Given the description of an element on the screen output the (x, y) to click on. 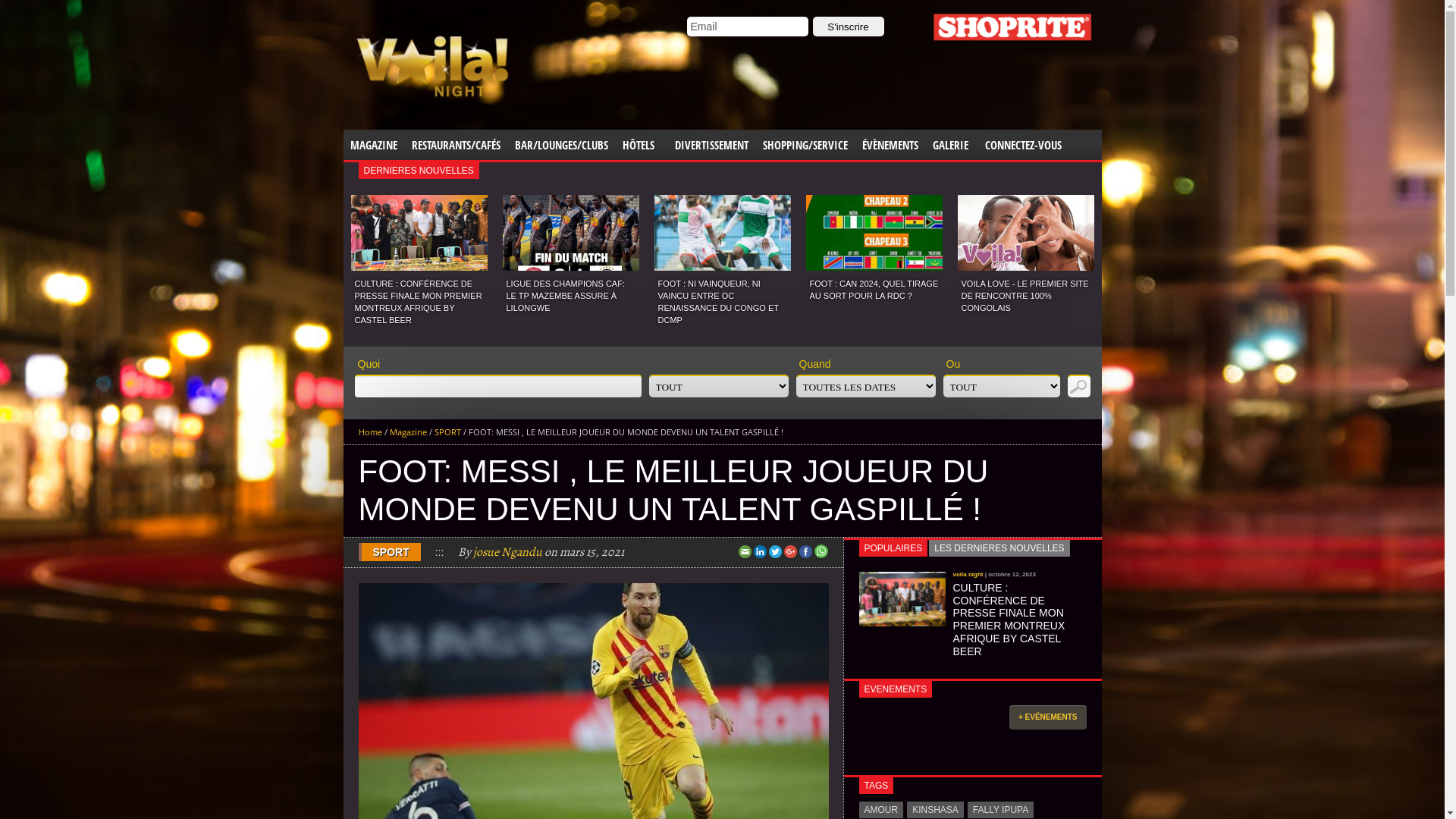
Share this on WhatsApp Element type: text (821, 551)
CONNECTEZ-VOUS Element type: text (1023, 144)
Email Element type: text (747, 26)
SHOPPING/SERVICE Element type: text (804, 144)
FOOT : CAN 2024, QUEL TIRAGE AU SORT POUR LA RDC ? Element type: text (874, 287)
GALERIE Element type: text (950, 144)
AMOUR Element type: text (880, 809)
Home Element type: text (369, 431)
Facebook Element type: hover (806, 551)
DIVERTISSEMENT Element type: text (710, 144)
KINSHASA Element type: text (934, 809)
josue Ngandu Element type: text (507, 551)
voila night Element type: text (967, 574)
Twitter Element type: hover (776, 551)
MAGAZINE Element type: text (372, 144)
BAR/LOUNGES/CLUBS Element type: text (561, 144)
VOILA LOVE - LE PREMIER SITE DE RENCONTRE 100% CONGOLAIS Element type: text (1026, 293)
Magazine Element type: text (407, 431)
POPULAIRES Element type: text (892, 547)
S'inscrire Element type: text (848, 26)
FALLY IPUPA Element type: text (1000, 809)
Email Element type: hover (745, 551)
SPORT Element type: text (446, 431)
LES DERNIERES NOUVELLES Element type: text (998, 547)
Google+ Element type: hover (791, 551)
LinkedIn Element type: hover (760, 551)
